Given the description of an element on the screen output the (x, y) to click on. 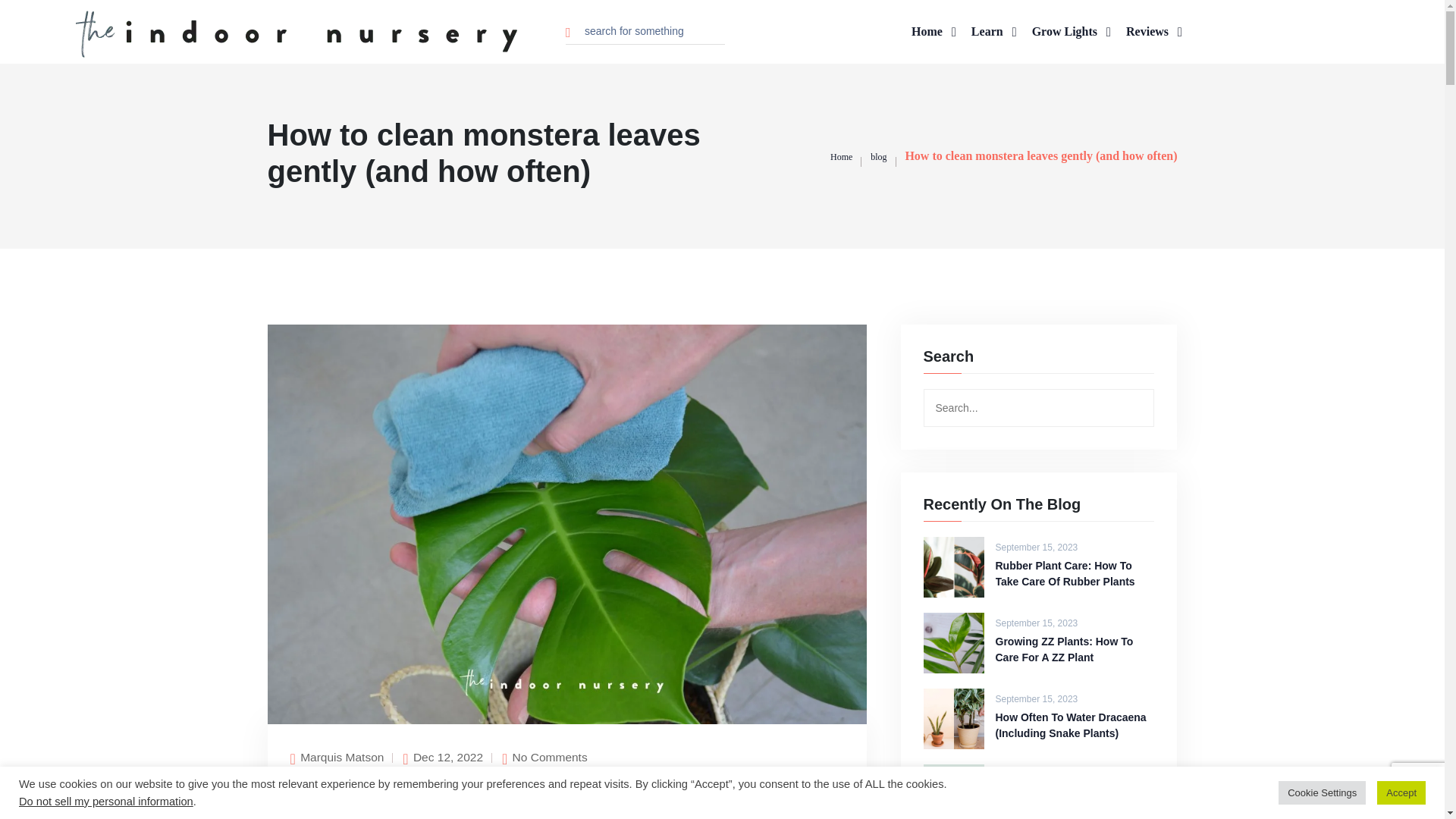
blog (878, 155)
Grow Lights (1071, 31)
Grow Lights (1071, 31)
Marquis Matson (341, 757)
Home (840, 155)
